Given the description of an element on the screen output the (x, y) to click on. 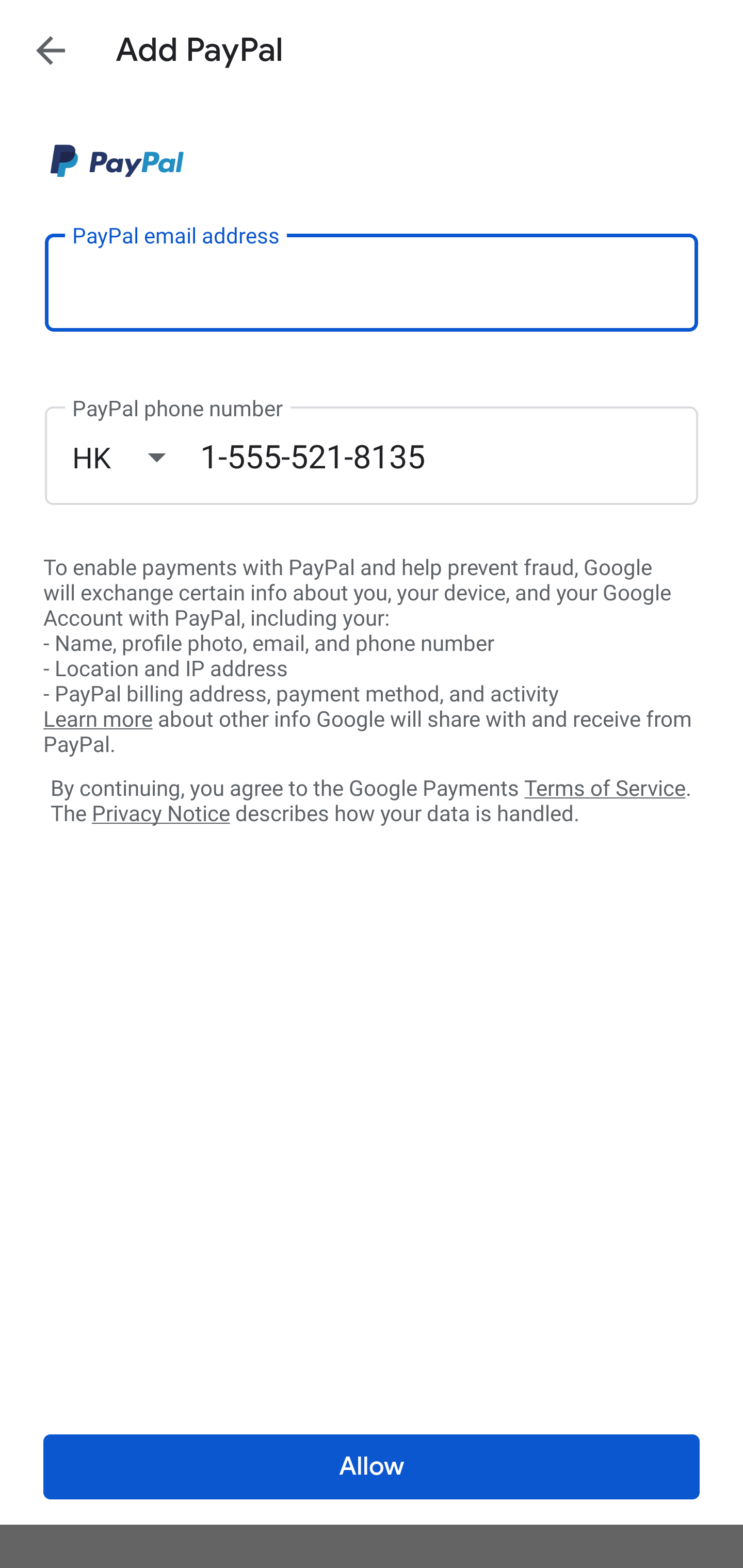
Navigate up (50, 50)
PayPal email address (371, 282)
HK (135, 456)
Learn more (97, 719)
Terms of Service (604, 787)
Privacy Notice (160, 814)
Allow (371, 1466)
